Given the description of an element on the screen output the (x, y) to click on. 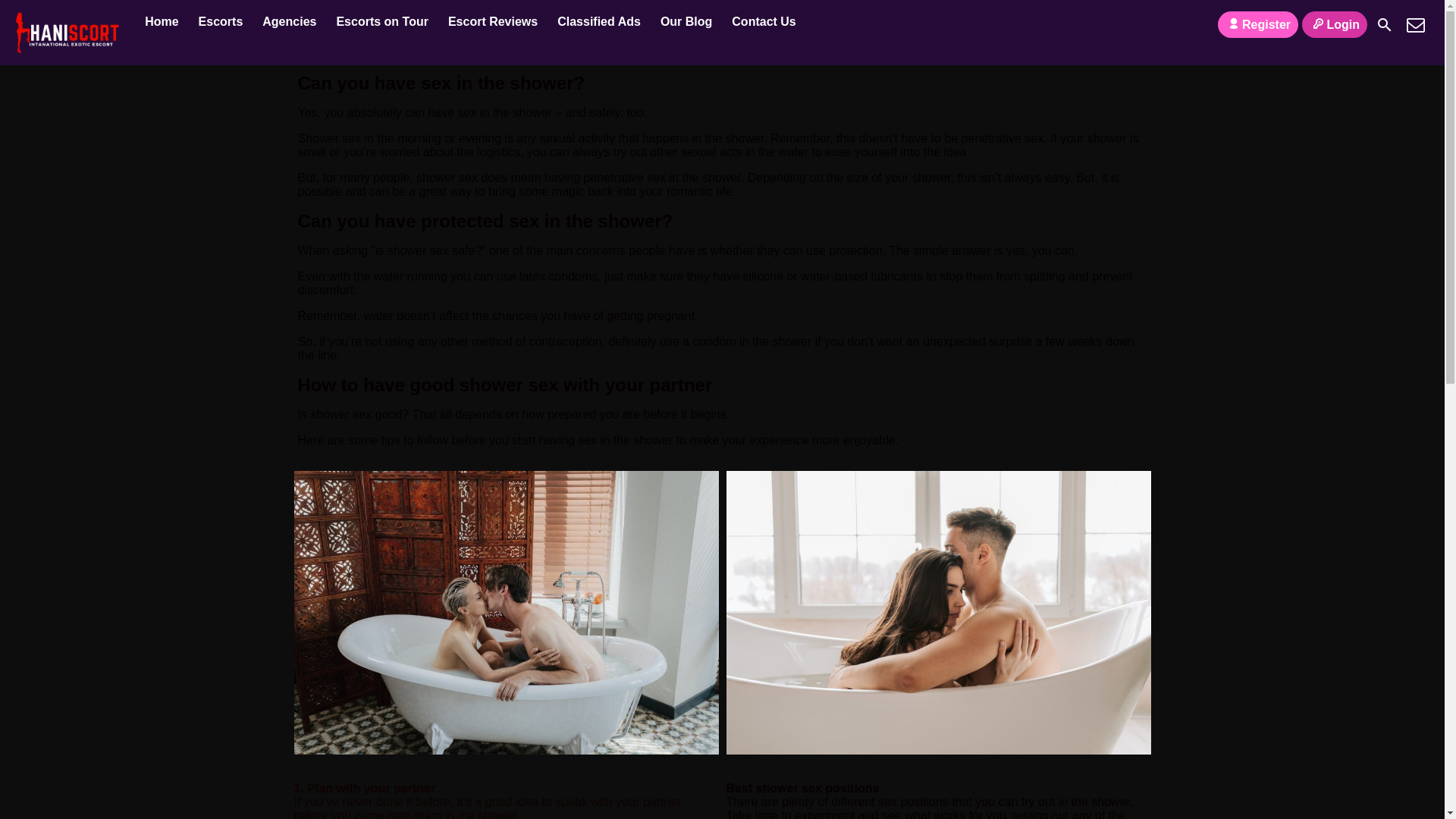
Escorts (221, 22)
Escort Reviews (492, 22)
Escorts on Tour (382, 22)
Contact Us (1415, 24)
Classified Ads (598, 22)
haniscort.com (161, 22)
Our Blog (686, 22)
Contact Us (763, 22)
Login (1334, 24)
Agencies (288, 22)
Search (1384, 24)
Home (161, 22)
Register (1257, 24)
